Given the description of an element on the screen output the (x, y) to click on. 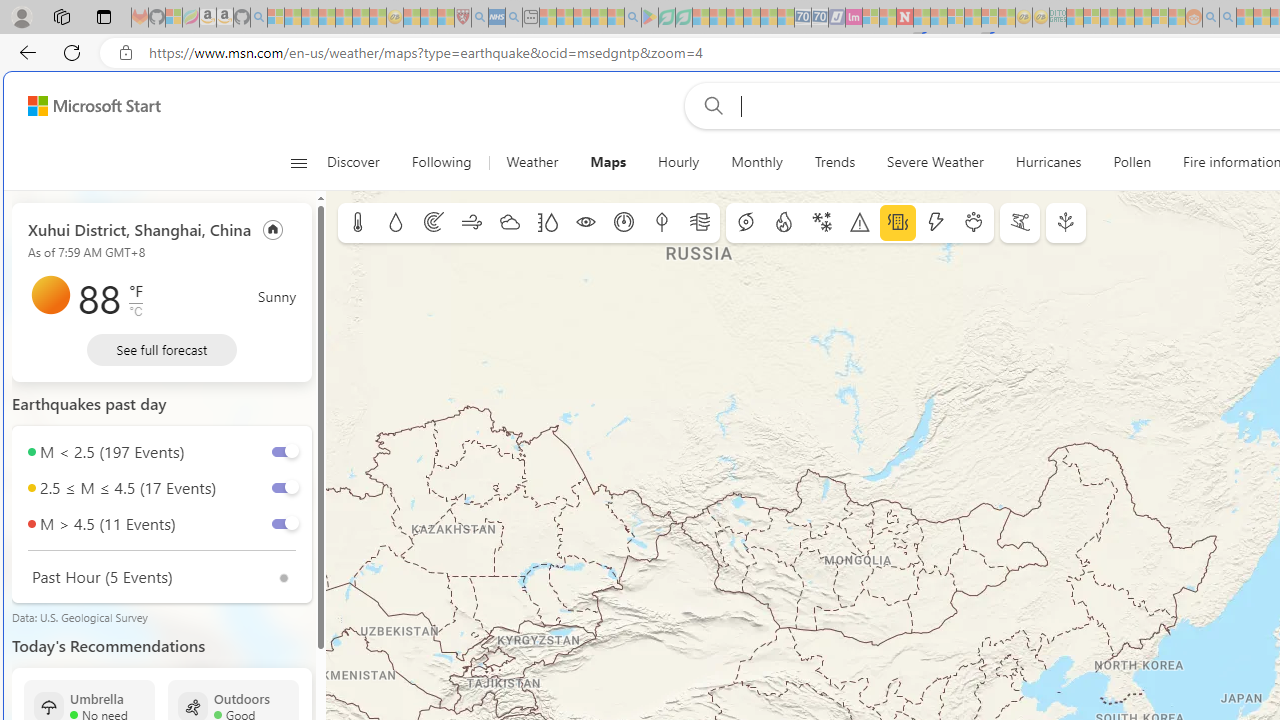
Terms of Use Agreement - Sleeping (666, 17)
Severe Weather (934, 162)
